Given the description of an element on the screen output the (x, y) to click on. 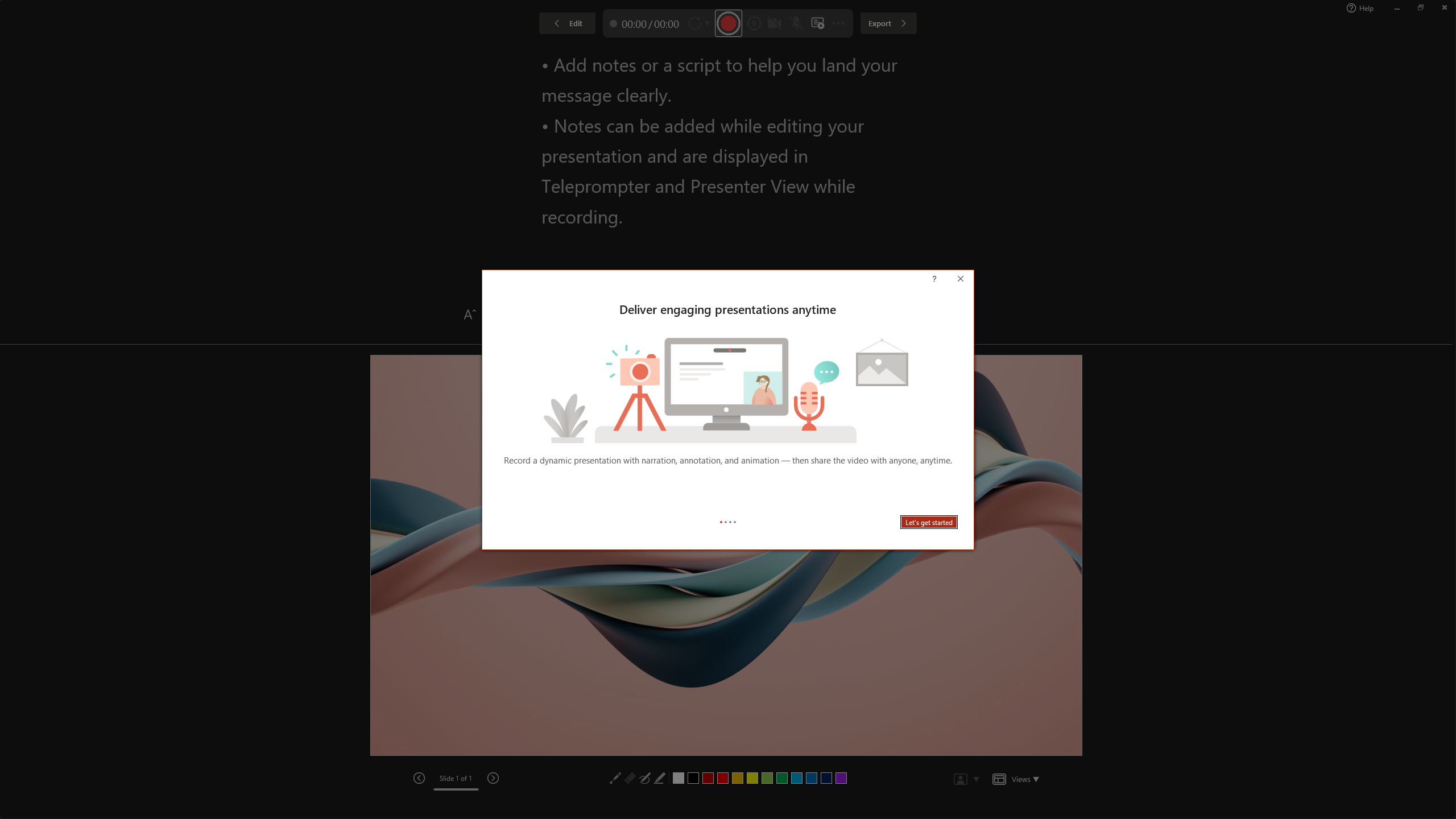
Integral Variant 1 (1112, 56)
Integral Variant 3 (1217, 56)
A desktop recording audio and video. (727, 386)
Integral Variant 2 (1164, 56)
Office Theme (85, 56)
Dividend (879, 56)
Retrospect (455, 56)
Format Background (1360, 58)
Variants (1301, 67)
